Given the description of an element on the screen output the (x, y) to click on. 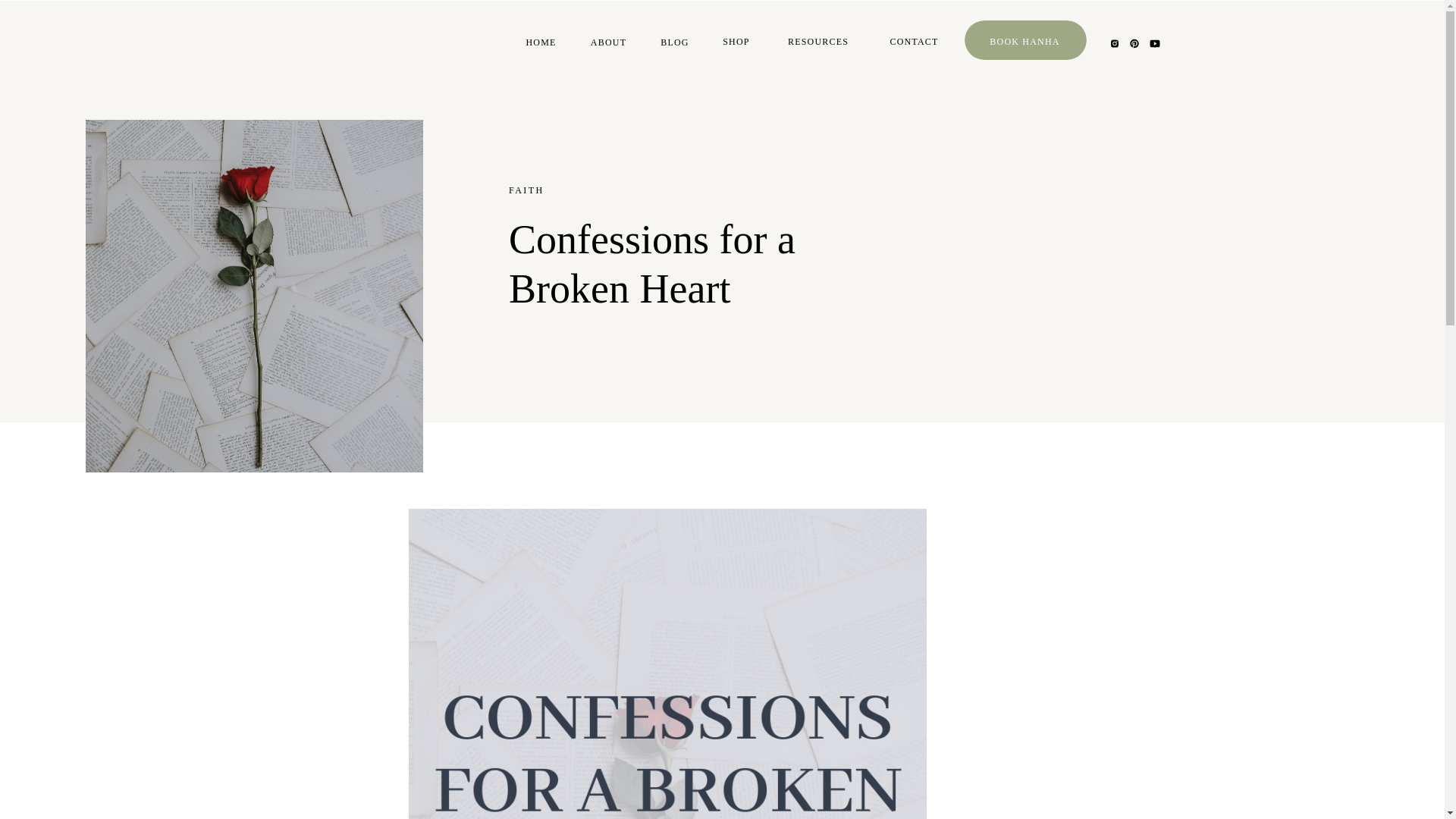
CONTACT (914, 44)
BLOG (674, 44)
ABOUT (608, 44)
SHOP (735, 44)
RESOURCES (818, 44)
BOOK HANHA (1023, 44)
HOME (540, 44)
FAITH (525, 190)
